Given the description of an element on the screen output the (x, y) to click on. 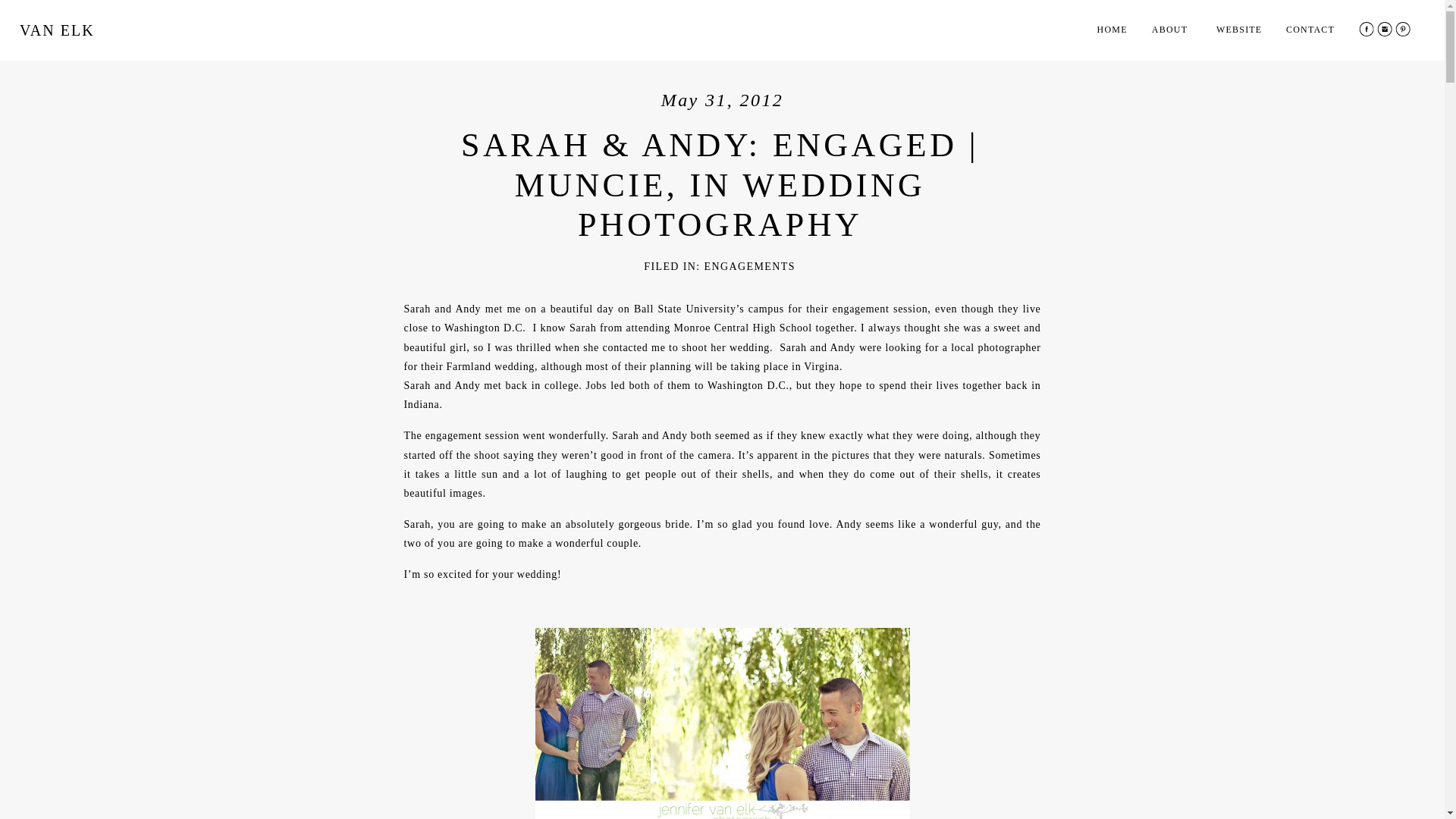
CONTACT (1310, 31)
ABOUT (1180, 29)
ENGAGEMENTS (749, 266)
VAN ELK (66, 34)
WEBSITE (1241, 31)
HOME (1117, 31)
